Given the description of an element on the screen output the (x, y) to click on. 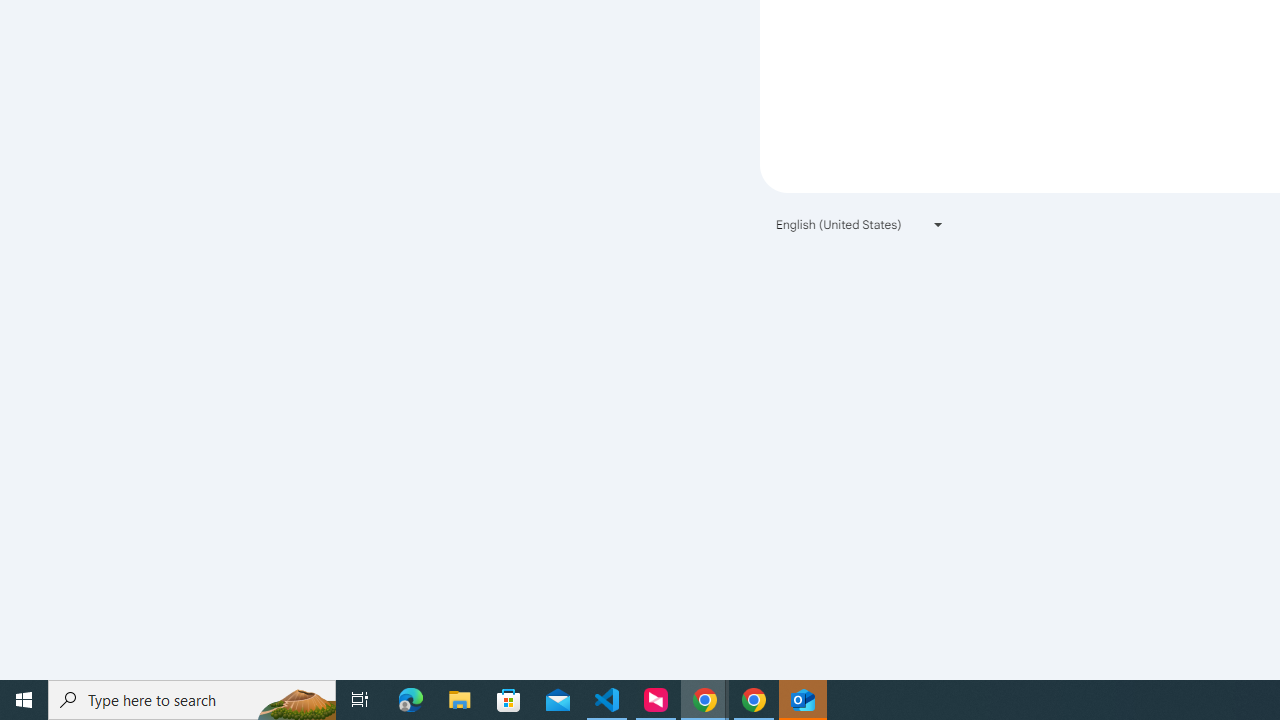
English (United States) (860, 224)
